Given the description of an element on the screen output the (x, y) to click on. 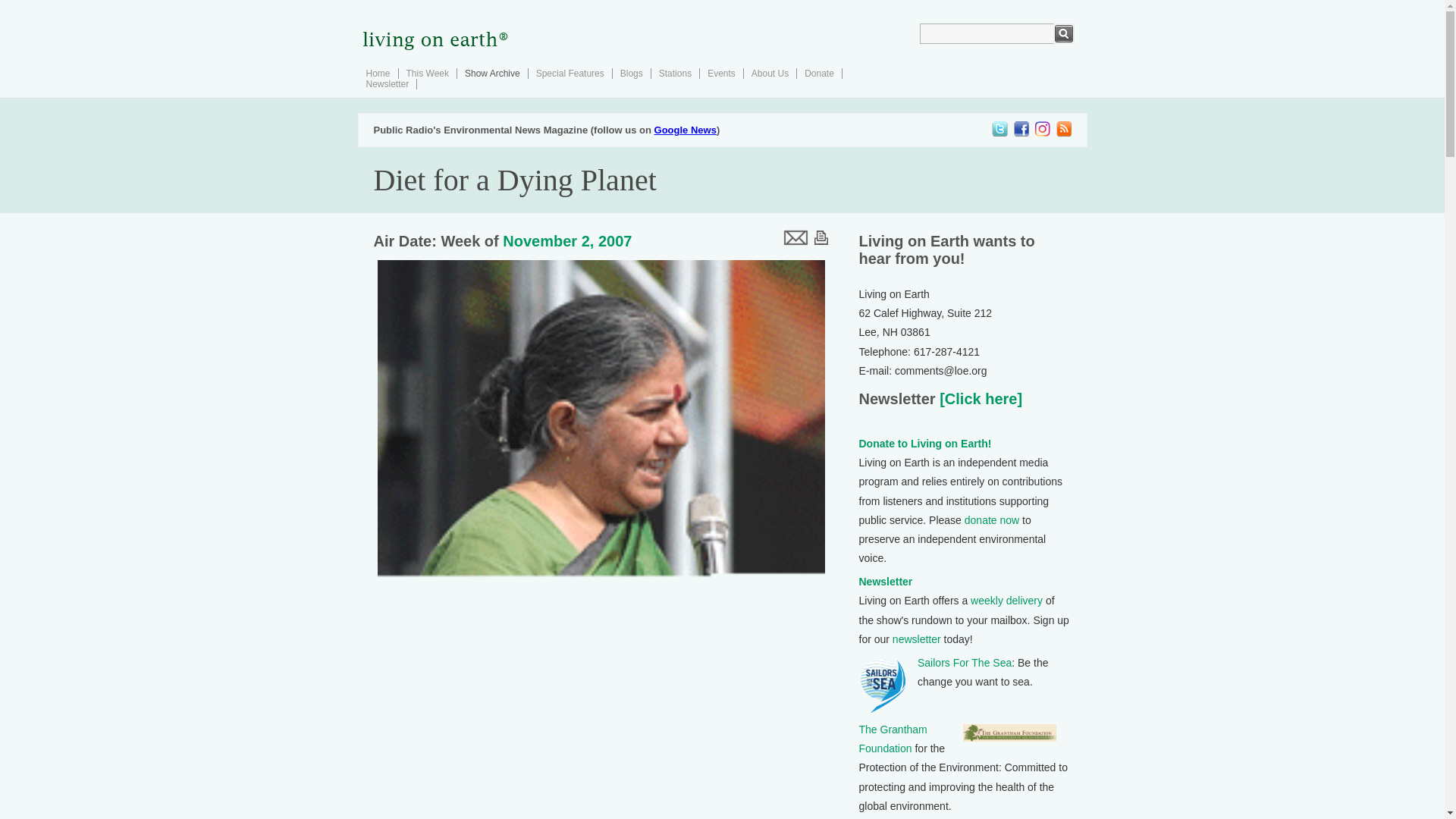
Donate to Living on Earth! (925, 443)
print (819, 236)
Blogs (631, 72)
donate now (991, 520)
About Us (770, 72)
Google News (684, 129)
Home (377, 72)
Newsletter (387, 83)
Show Archive (491, 72)
Newsletter (885, 581)
